Given the description of an element on the screen output the (x, y) to click on. 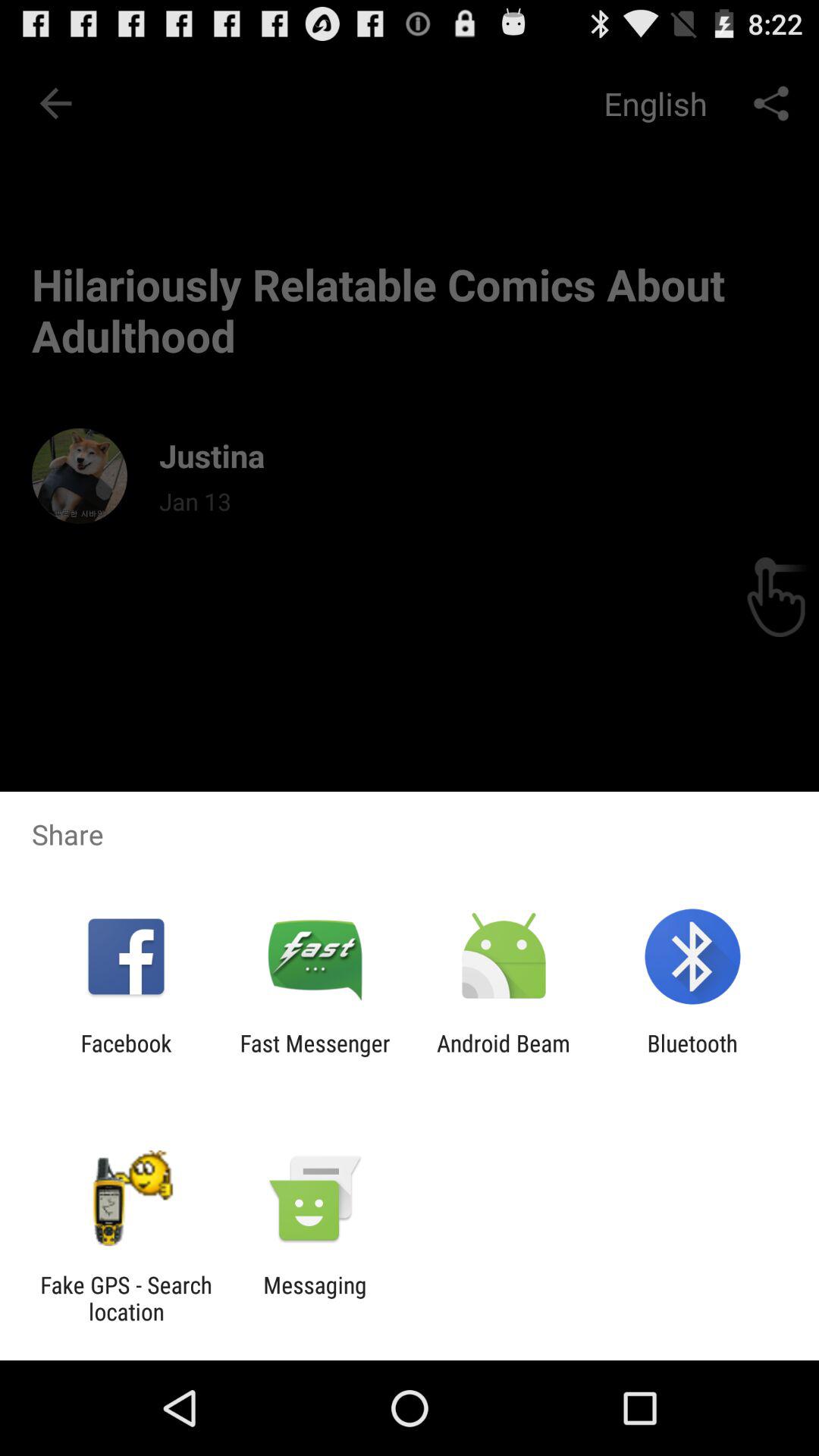
launch the app to the right of the fake gps search app (314, 1298)
